Given the description of an element on the screen output the (x, y) to click on. 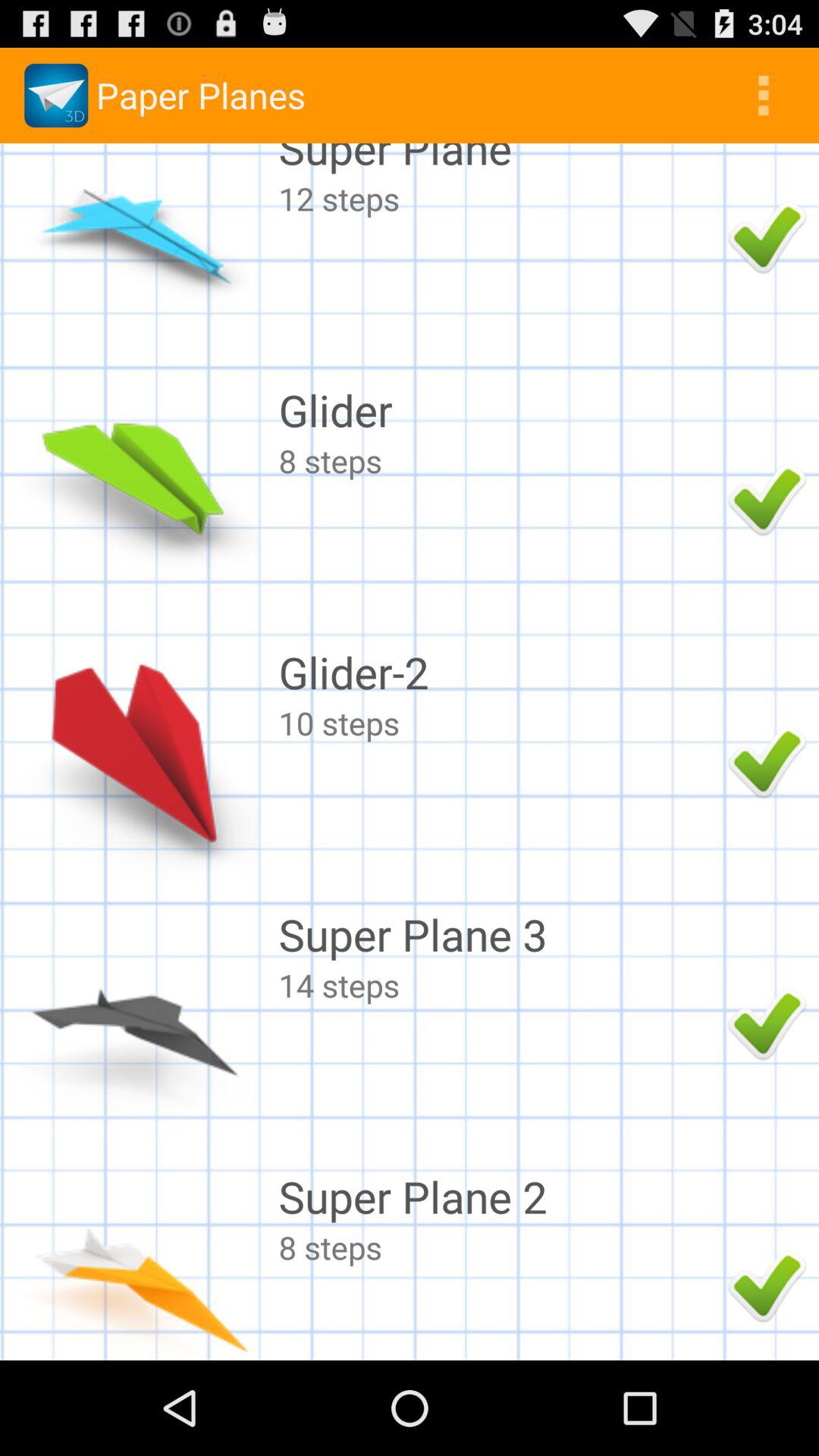
press the 10 steps (498, 722)
